Given the description of an element on the screen output the (x, y) to click on. 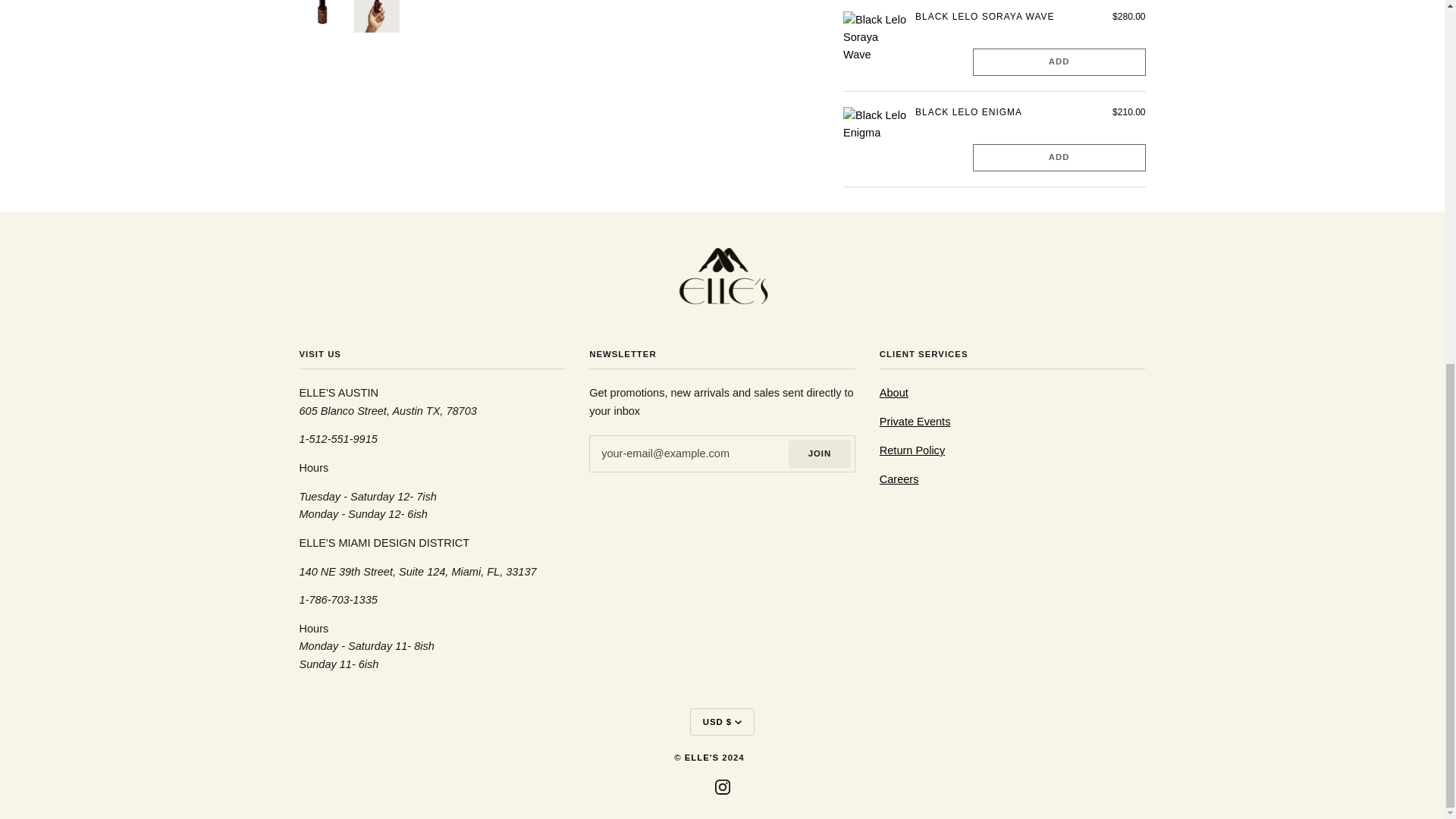
Modern Purveyor of Sensuality (893, 392)
Careers (898, 479)
Instagram (721, 786)
Return Policy (911, 450)
